Given the description of an element on the screen output the (x, y) to click on. 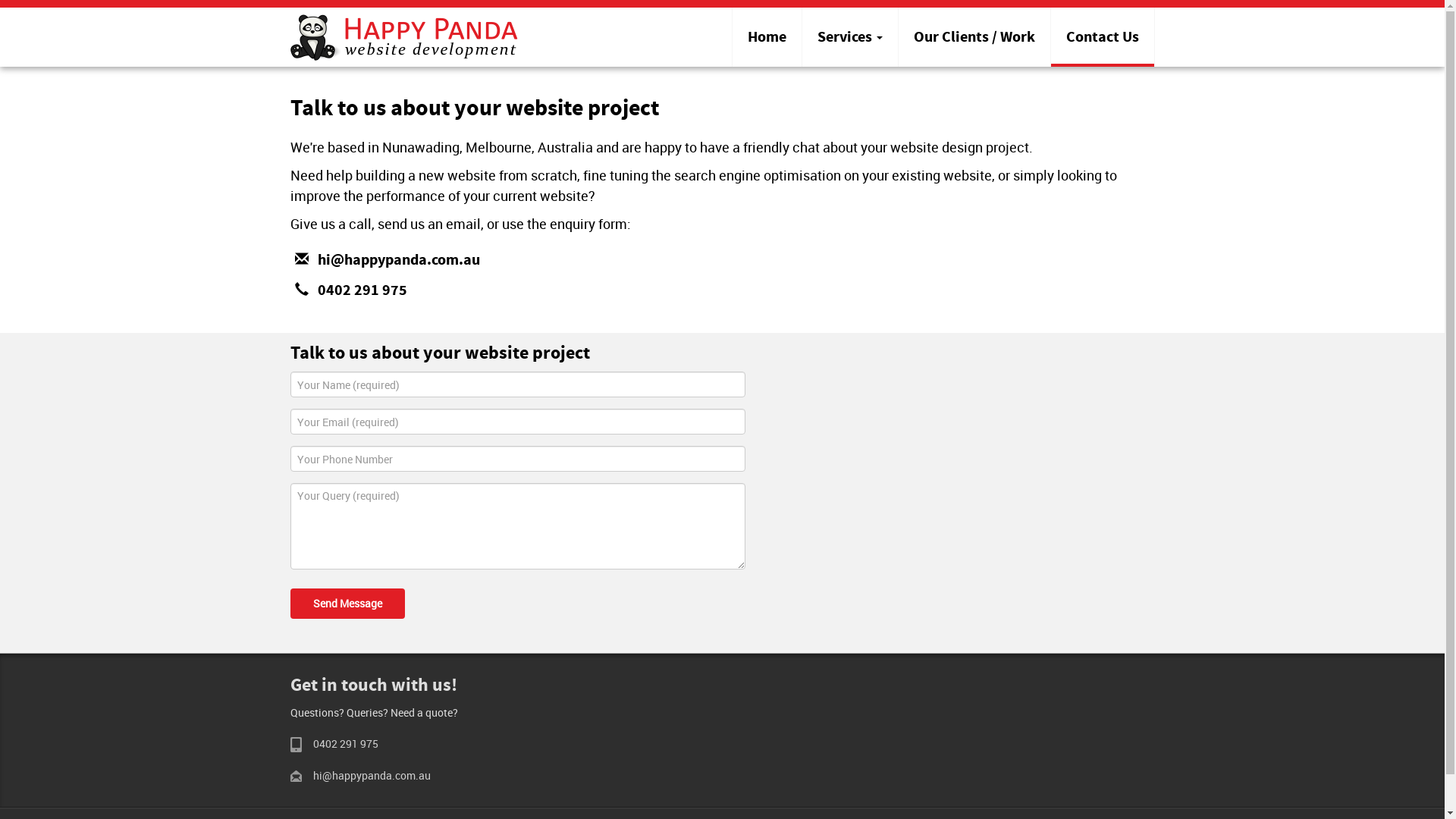
hi@happypanda.com.au Element type: text (370, 775)
Your Query (required) Element type: hover (516, 526)
Our Clients / Work Element type: text (973, 36)
hi@happypanda.com.au Element type: text (397, 260)
Send Message Element type: text (346, 603)
Services Element type: text (849, 36)
Home Element type: text (766, 36)
Contact Us Element type: text (1102, 36)
Your Phone Number Element type: hover (516, 458)
Your Email (required) Element type: hover (516, 421)
Home Element type: hover (403, 34)
Your Name (required) Element type: hover (516, 384)
Skip to main content Element type: text (0, 0)
0402 291 975 Element type: text (344, 743)
Happy Panda website design Element type: hover (403, 36)
